Given the description of an element on the screen output the (x, y) to click on. 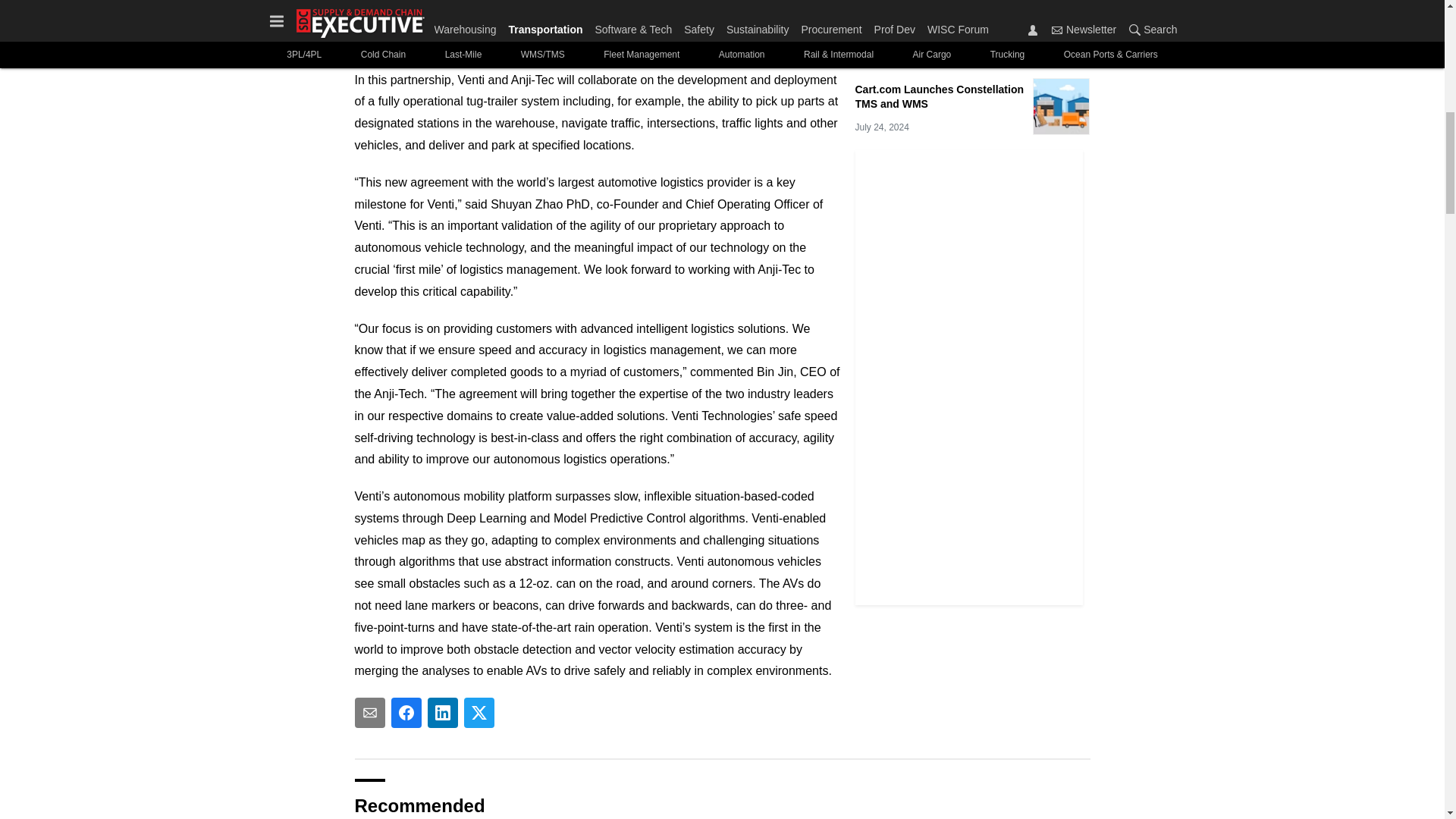
Share To email (370, 712)
Share To linkedin (443, 712)
Share To facebook (406, 712)
Share To twitter (479, 712)
